Given the description of an element on the screen output the (x, y) to click on. 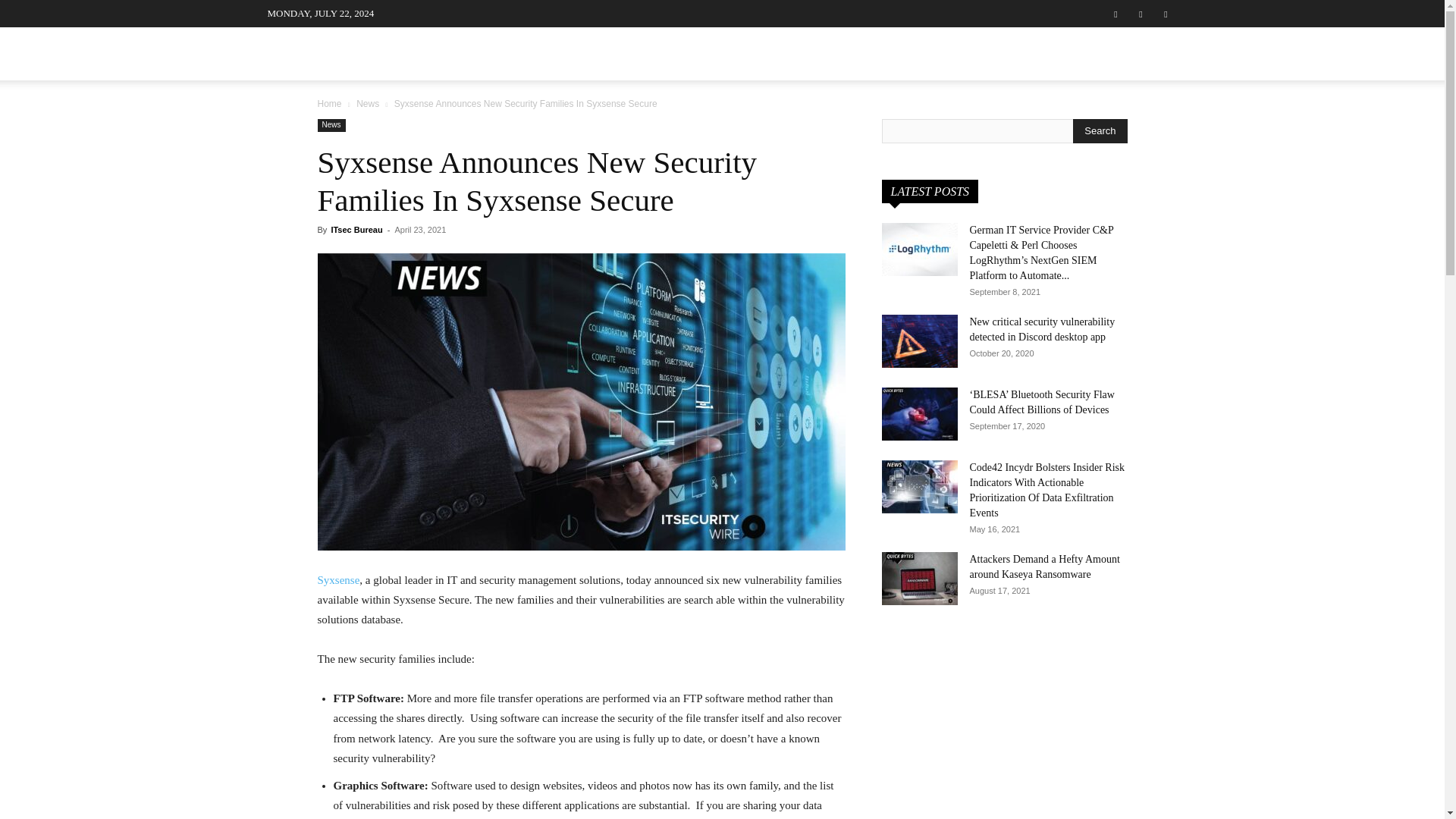
Home (328, 103)
News (331, 124)
ITSECURITYWIRE FAVCON (381, 57)
ITSecurityWire (381, 57)
QUICK BYTES (883, 53)
Search (1099, 130)
INSIGHTS (778, 53)
ARTICLES (610, 53)
Search (1134, 129)
News (367, 103)
PODCASTS (694, 53)
RESOURCES (984, 53)
INTERVIEWS (519, 53)
View all posts in News (367, 103)
